Given the description of an element on the screen output the (x, y) to click on. 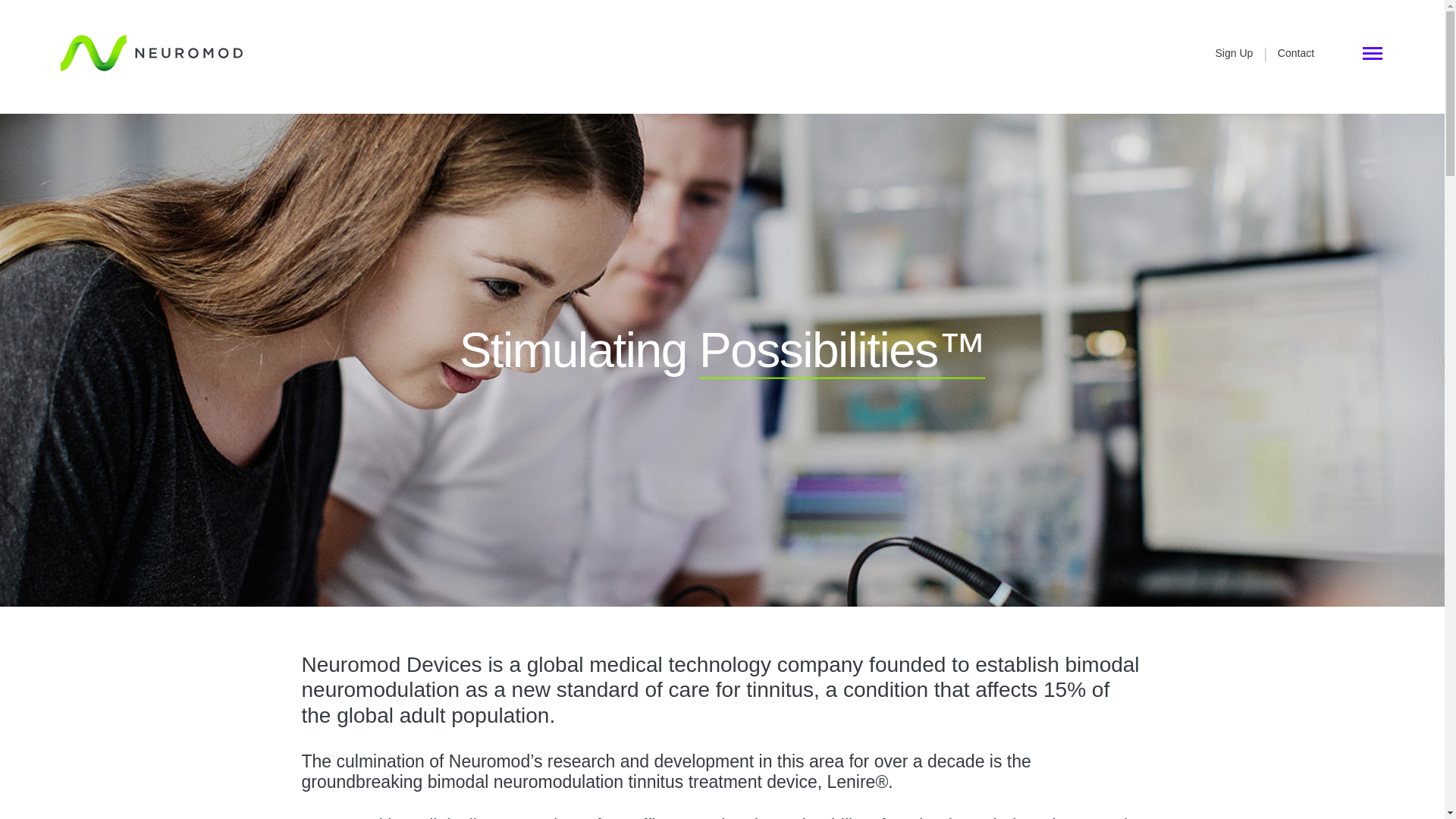
Neuromod (152, 52)
Contact (1296, 52)
Sign Up (1234, 52)
